Given the description of an element on the screen output the (x, y) to click on. 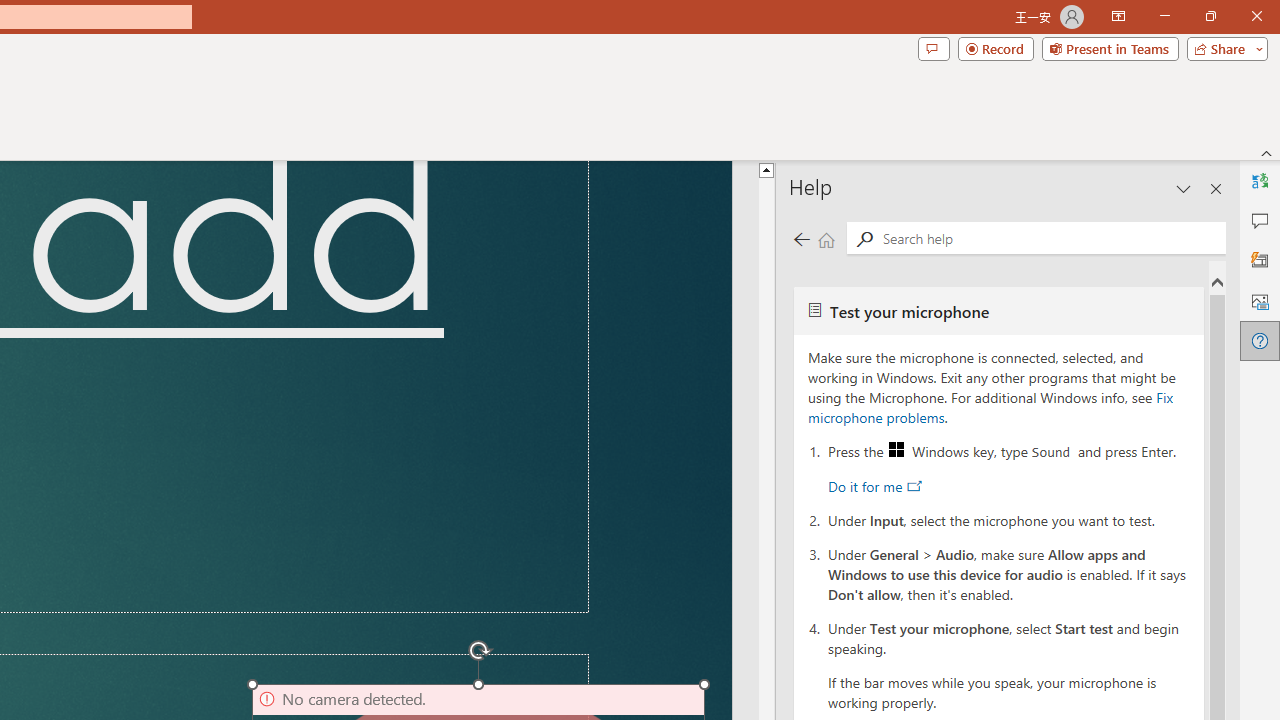
New Windows key logo (896, 449)
Under Input, select the microphone you want to test. (1009, 519)
Fix microphone problems (989, 407)
Do it for me (874, 486)
Previous page (801, 238)
Test your microphone (998, 310)
